Given the description of an element on the screen output the (x, y) to click on. 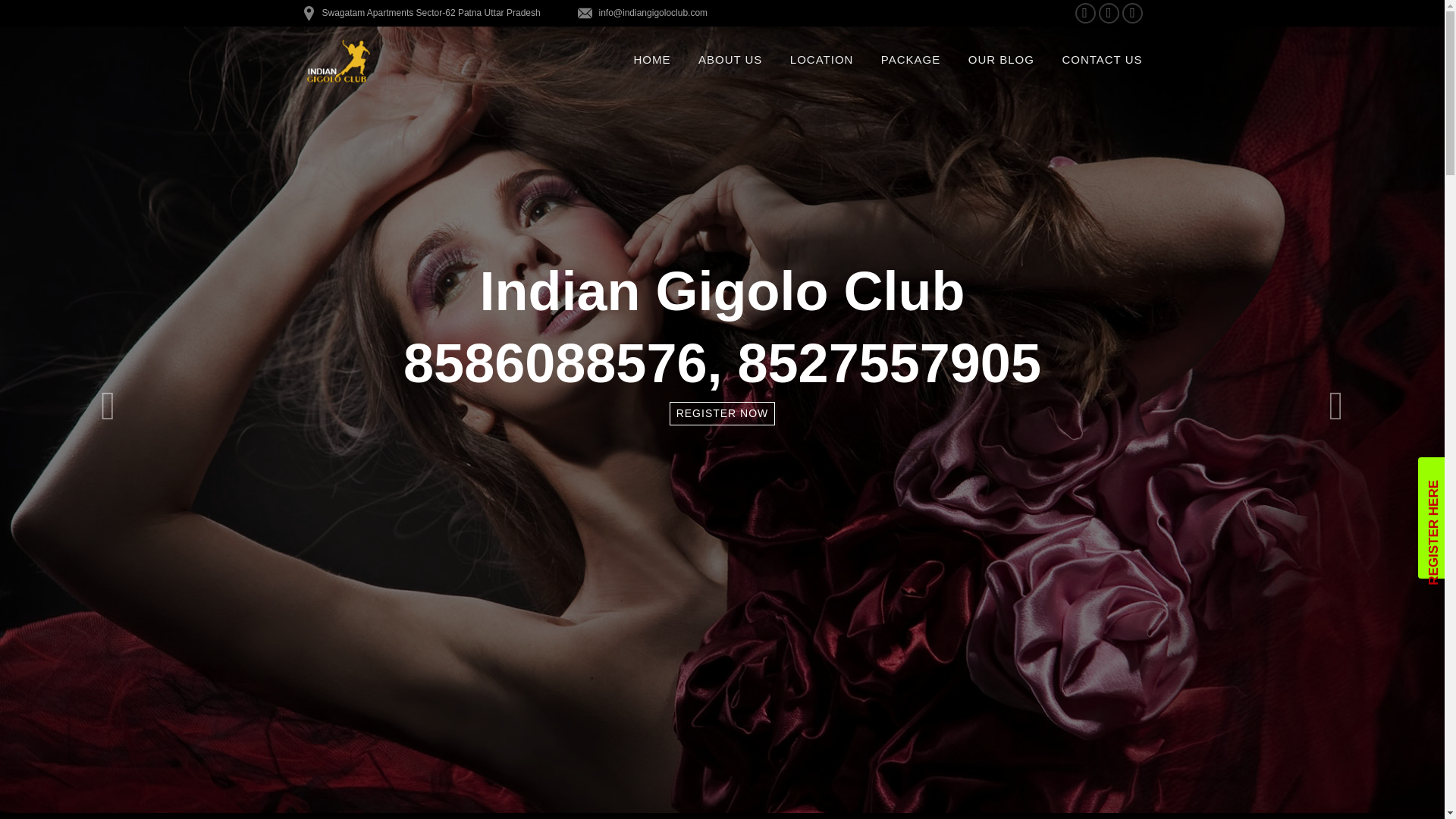
LOCATION (821, 59)
OUR BLOG (1000, 59)
REGISTER NOW (722, 413)
HOME (652, 59)
PACKAGE (910, 59)
CONTACT US (1101, 59)
ABOUT US (729, 59)
